Given the description of an element on the screen output the (x, y) to click on. 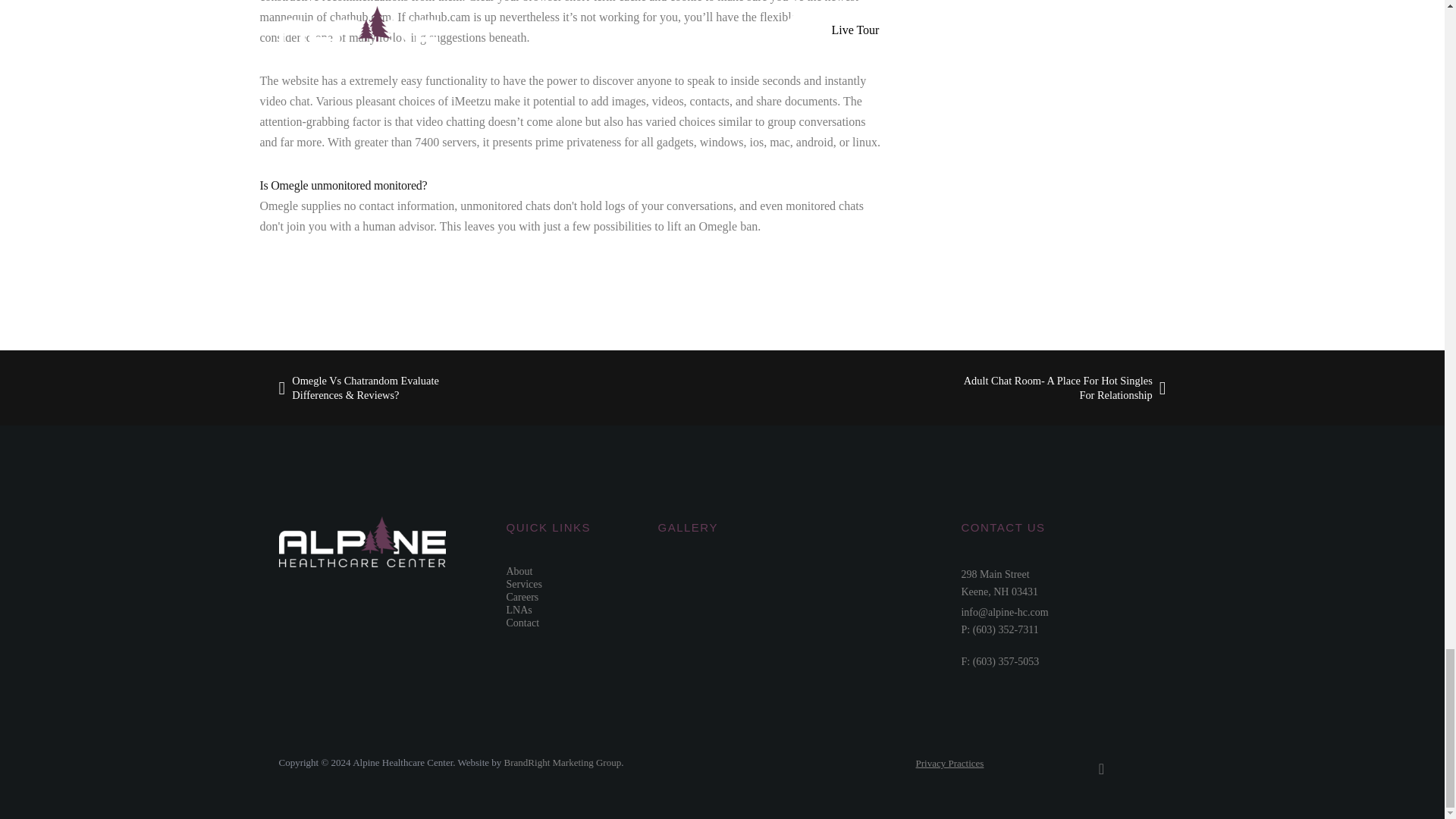
Adult Chat Room- A Place For Hot Singles For Relationship (1054, 387)
BrandRight Marketing Group (562, 762)
About (998, 582)
Careers (519, 571)
LNAs (522, 596)
Services (519, 609)
Privacy Practices (523, 583)
Contact (949, 763)
